Given the description of an element on the screen output the (x, y) to click on. 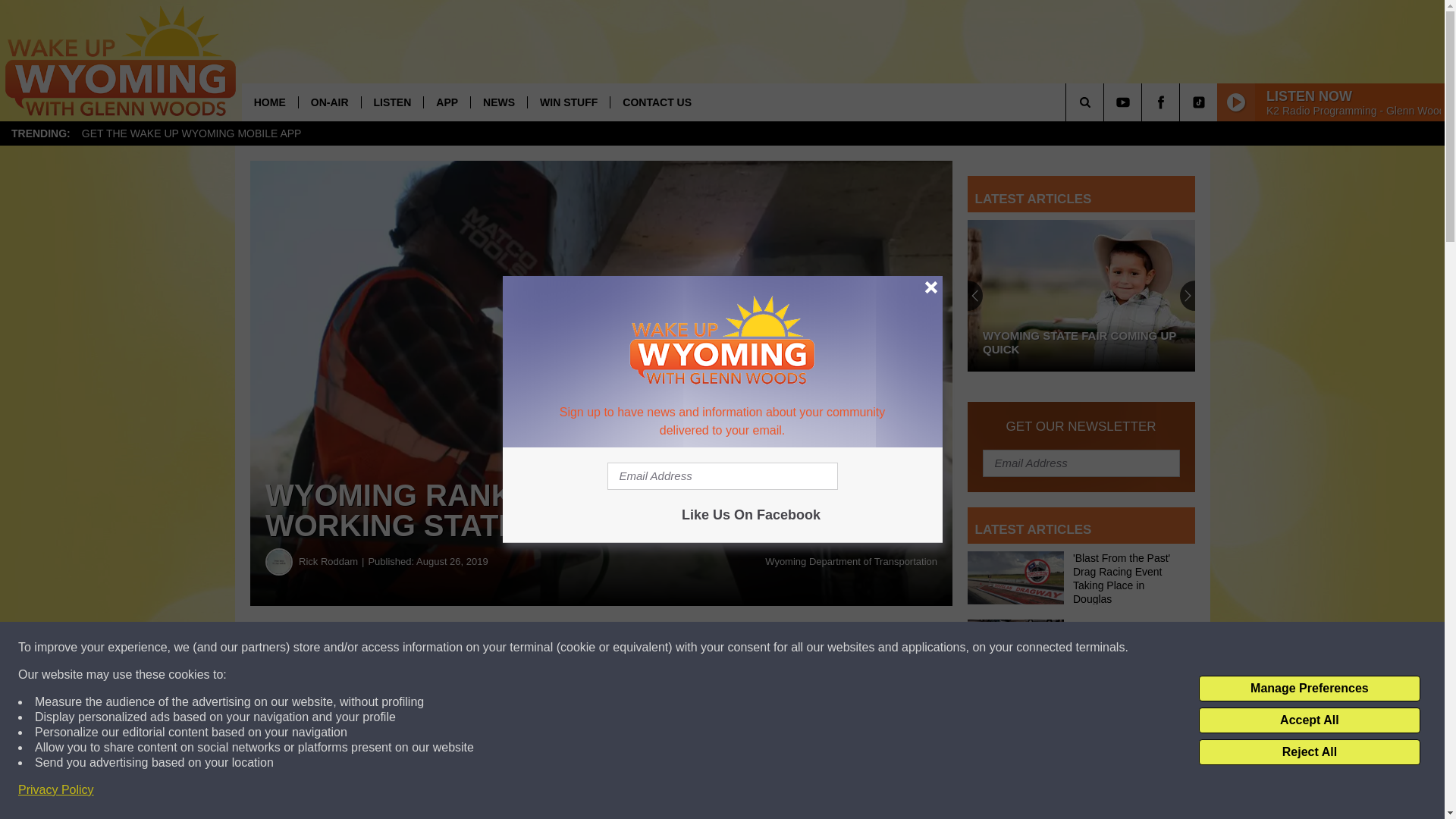
ON-AIR (329, 102)
HOME (269, 102)
Manage Preferences (1309, 688)
WIN STUFF (568, 102)
Share on Twitter (741, 647)
LISTEN (392, 102)
Accept All (1309, 720)
NEWS (498, 102)
Email Address (1080, 461)
Privacy Policy (55, 789)
Share on Facebook (460, 647)
CONTACT US (656, 102)
Email Address (722, 475)
APP (446, 102)
GET THE WAKE UP WYOMING MOBILE APP (191, 133)
